Given the description of an element on the screen output the (x, y) to click on. 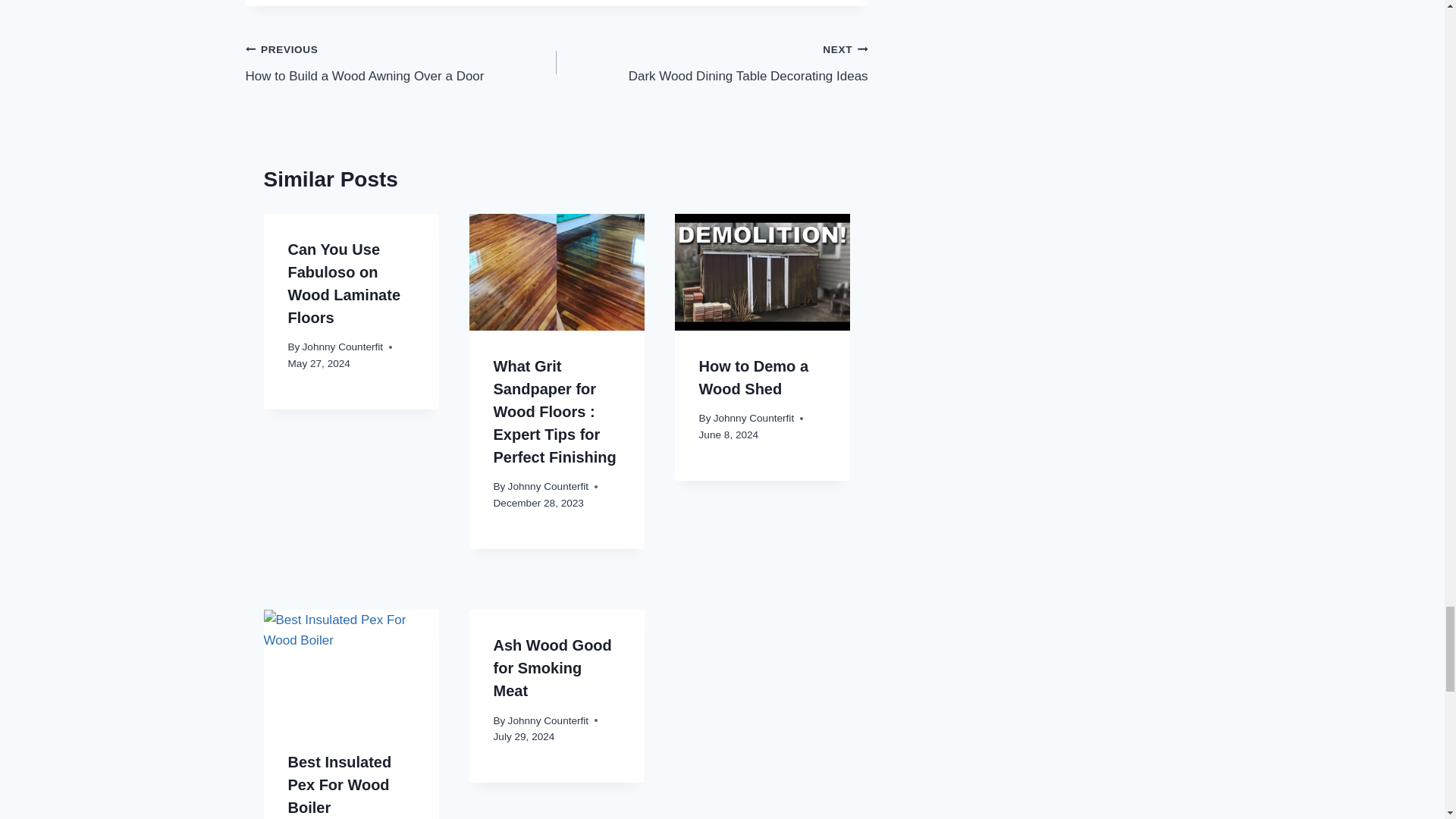
How to Demo a Wood Shed (753, 377)
Johnny Counterfit (343, 346)
Best Insulated Pex For Wood Boiler (339, 784)
Johnny Counterfit (548, 486)
Can You Use Fabuloso on Wood Laminate Floors (344, 282)
Johnny Counterfit (401, 62)
